Given the description of an element on the screen output the (x, y) to click on. 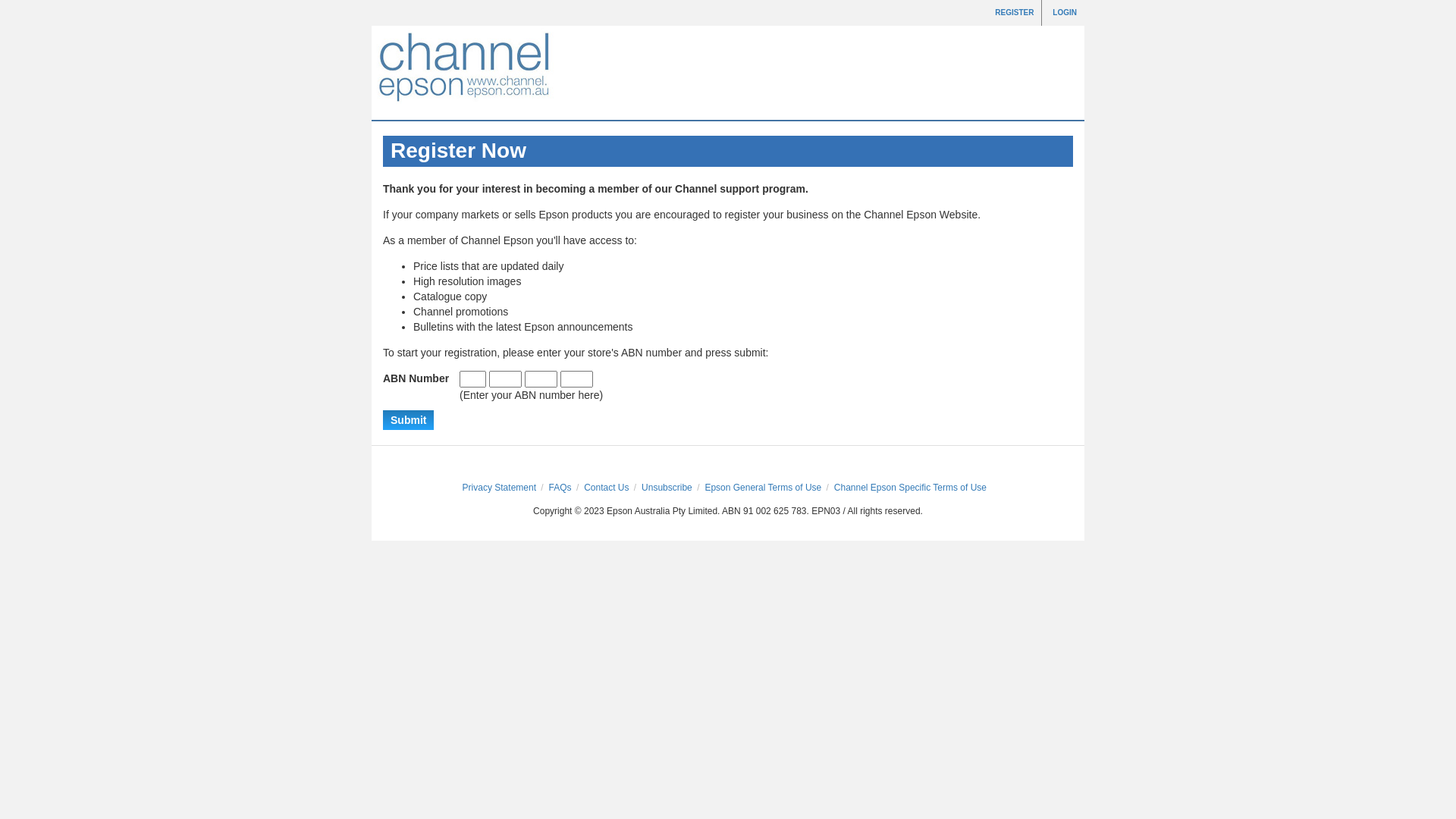
Submit Element type: text (407, 419)
REGISTER Element type: text (1014, 12)
Unsubscribe Element type: text (666, 487)
Privacy Statement Element type: text (499, 487)
Channel Epson Specific Terms of Use Element type: text (910, 487)
FAQs Element type: text (560, 487)
Contact Us Element type: text (605, 487)
Epson General Terms of Use Element type: text (762, 487)
LOGIN Element type: text (1064, 12)
